Given the description of an element on the screen output the (x, y) to click on. 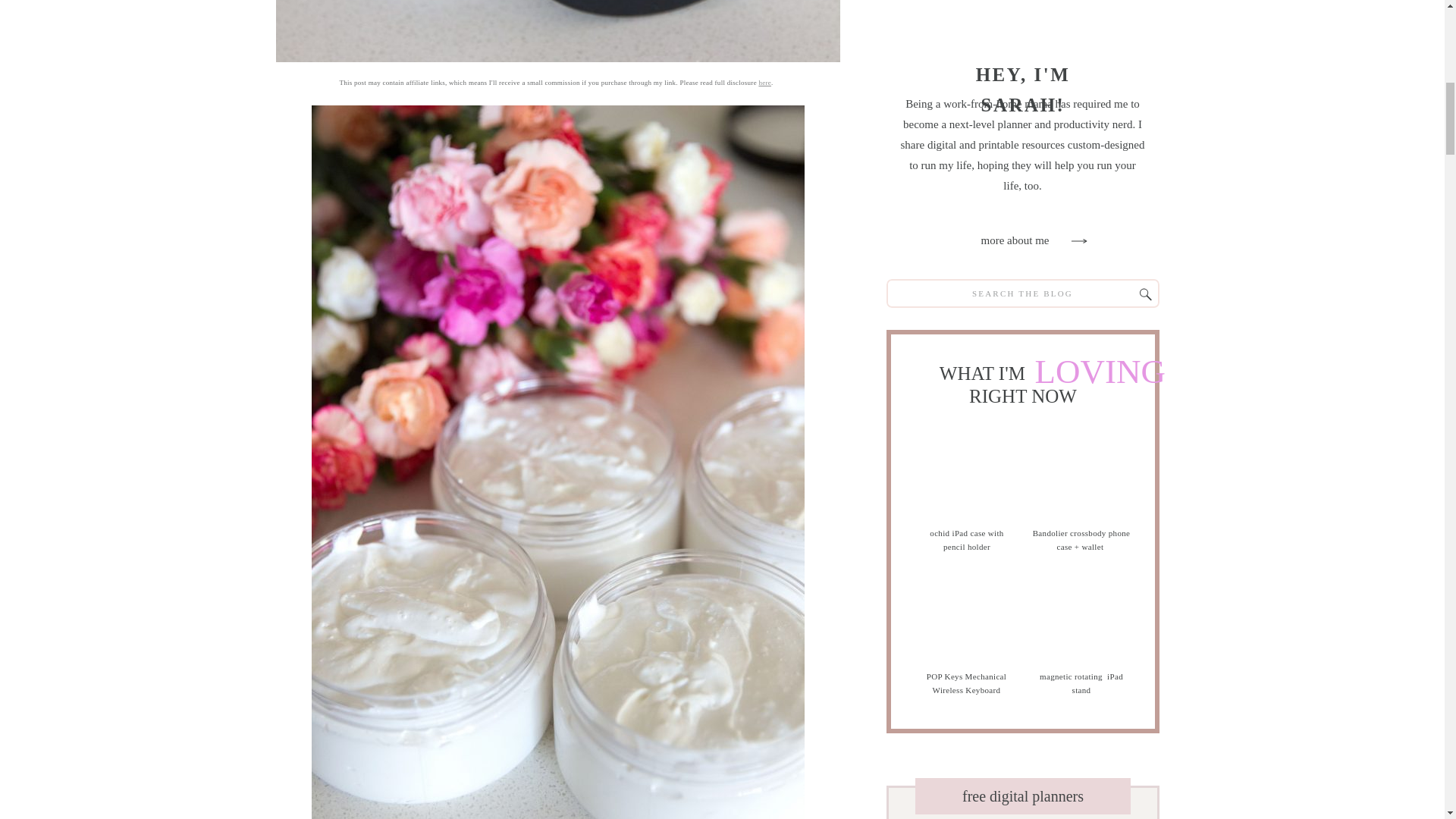
POP Keys Mechanical Wireless Keyboard (965, 685)
WHAT I'M  (984, 371)
more about me (1013, 241)
magnetic rotating  iPad stand (1080, 689)
ochid iPad case with pencil holder (965, 540)
RIGHT NOW (1022, 393)
